Given the description of an element on the screen output the (x, y) to click on. 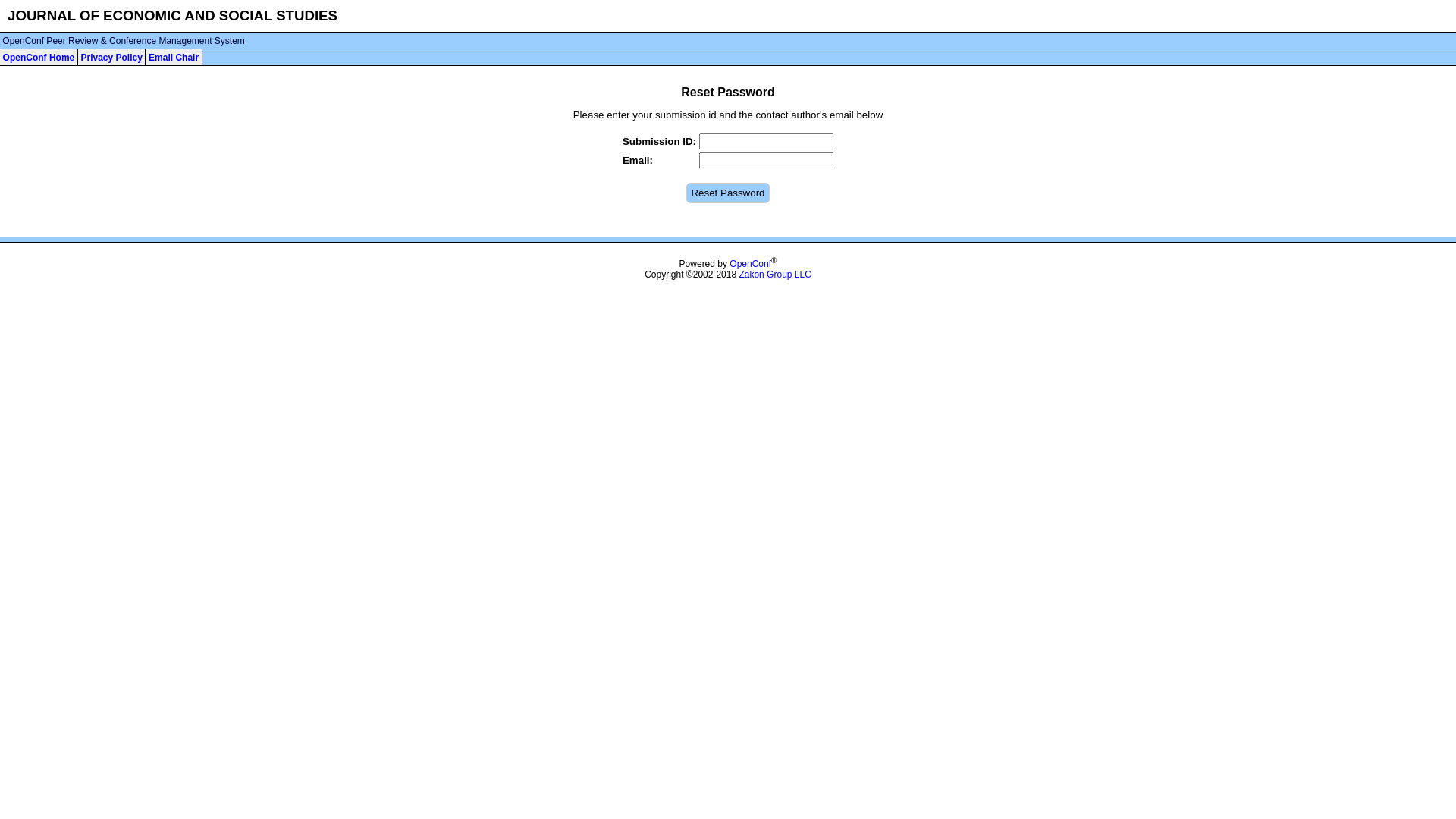
OpenConf Element type: text (750, 263)
OpenConf Home Element type: text (39, 57)
Privacy Policy Element type: text (110, 57)
Email Chair Element type: text (173, 57)
JOURNAL OF ECONOMIC AND SOCIAL STUDIES Element type: text (172, 15)
Reset Password Element type: text (727, 192)
Zakon Group LLC Element type: text (774, 274)
